Given the description of an element on the screen output the (x, y) to click on. 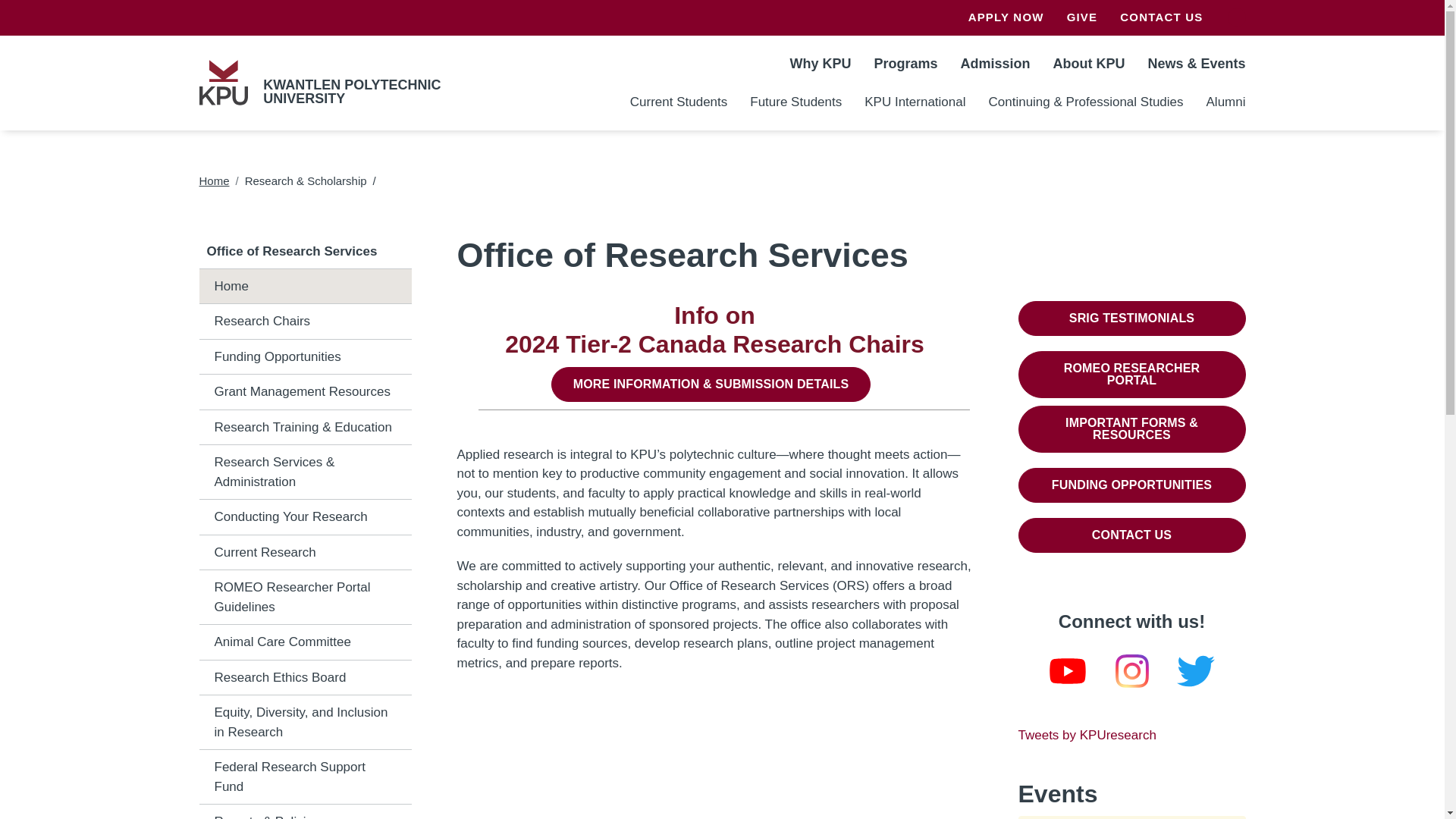
Office of Research Services (304, 251)
Federal Research Support Fund (304, 776)
Research Ethics Board (304, 677)
CONTACT US (1155, 17)
Why KPU (819, 62)
Alumni (1220, 101)
Future Students (795, 101)
Conducting Your Research (304, 516)
Home (213, 180)
Home (222, 82)
